Given the description of an element on the screen output the (x, y) to click on. 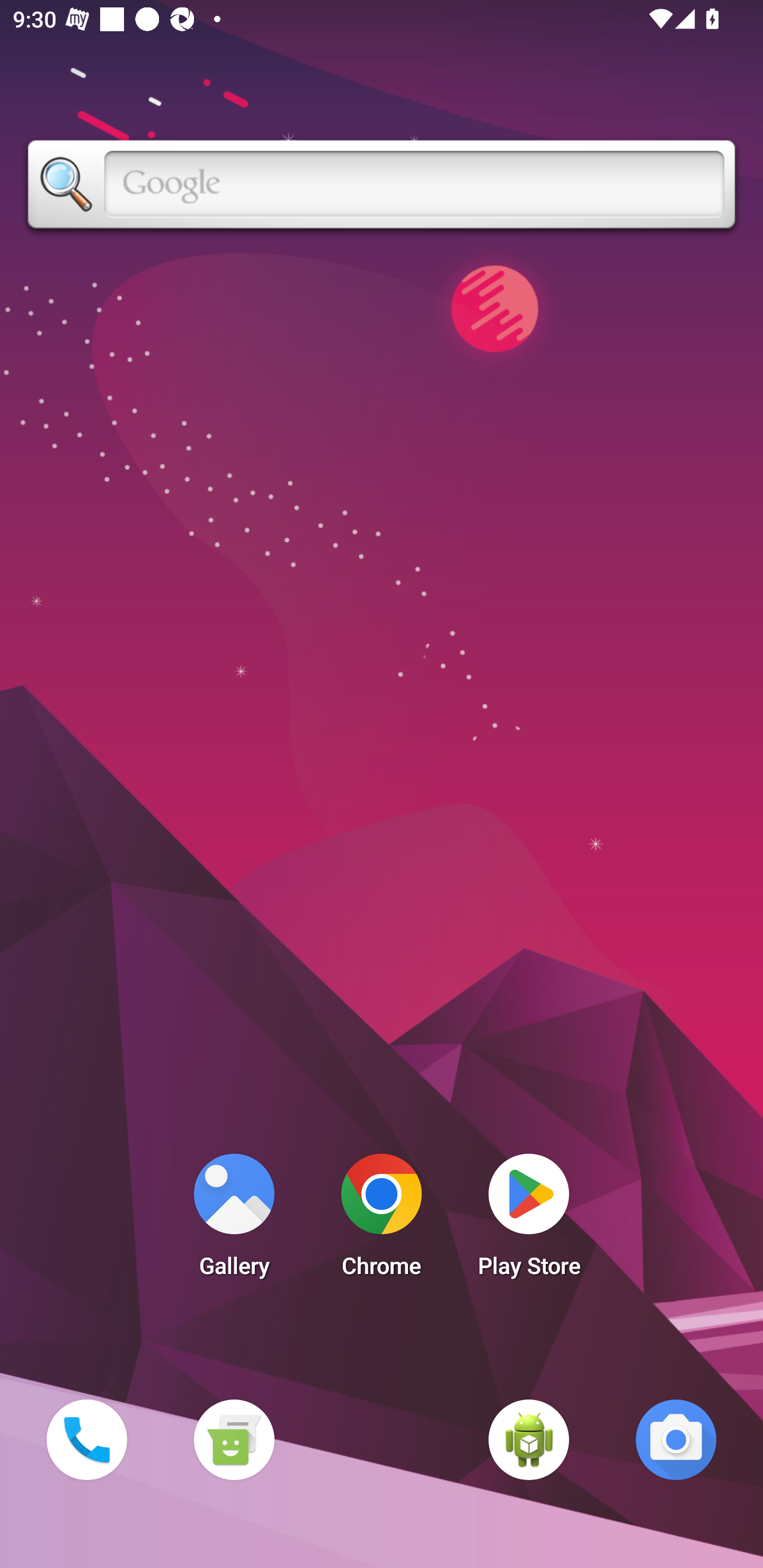
Gallery (233, 1220)
Chrome (381, 1220)
Play Store (528, 1220)
Phone (86, 1439)
Messaging (233, 1439)
WebView Browser Tester (528, 1439)
Camera (676, 1439)
